Given the description of an element on the screen output the (x, y) to click on. 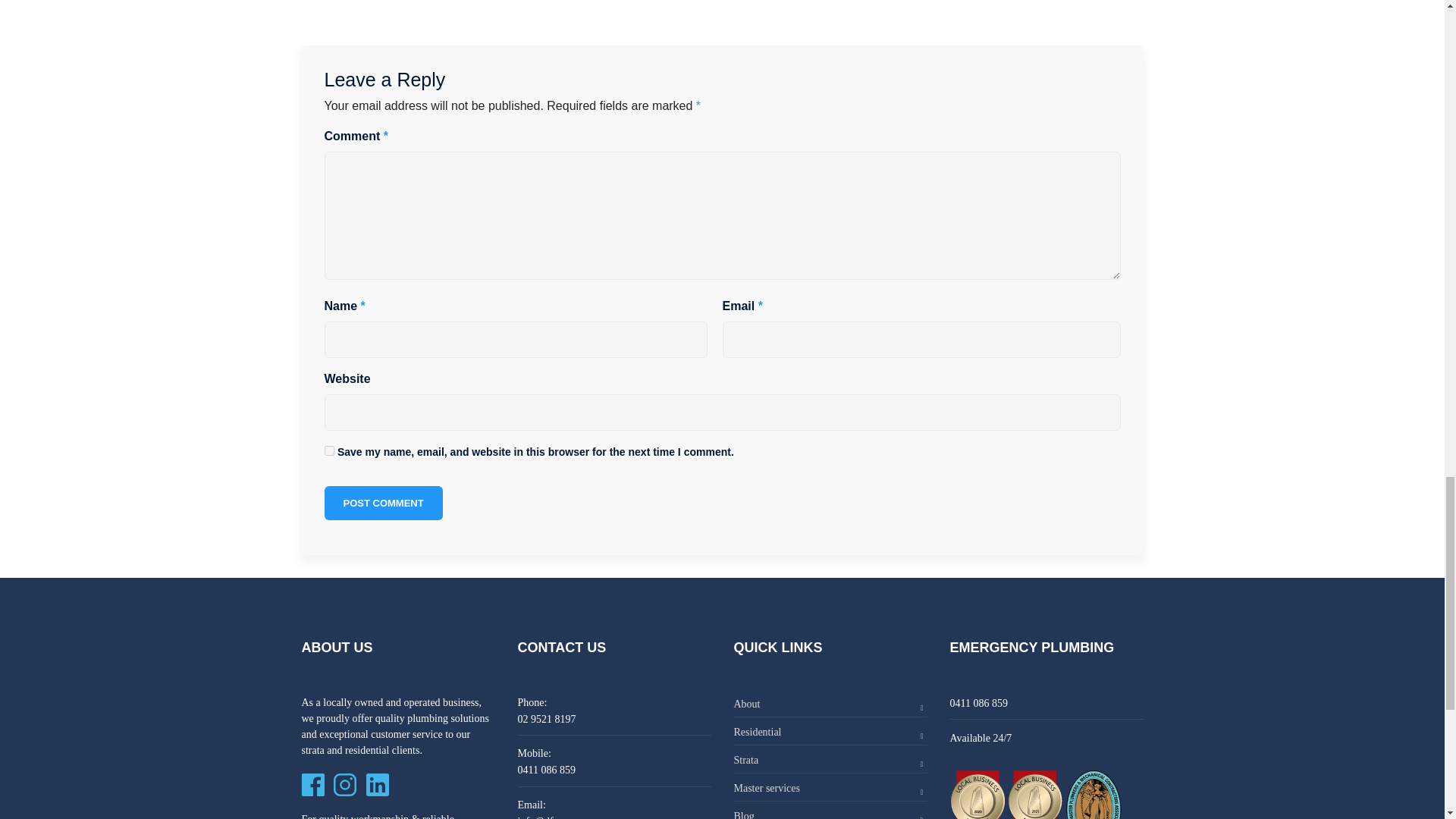
yes (329, 450)
Post Comment (383, 503)
